Given the description of an element on the screen output the (x, y) to click on. 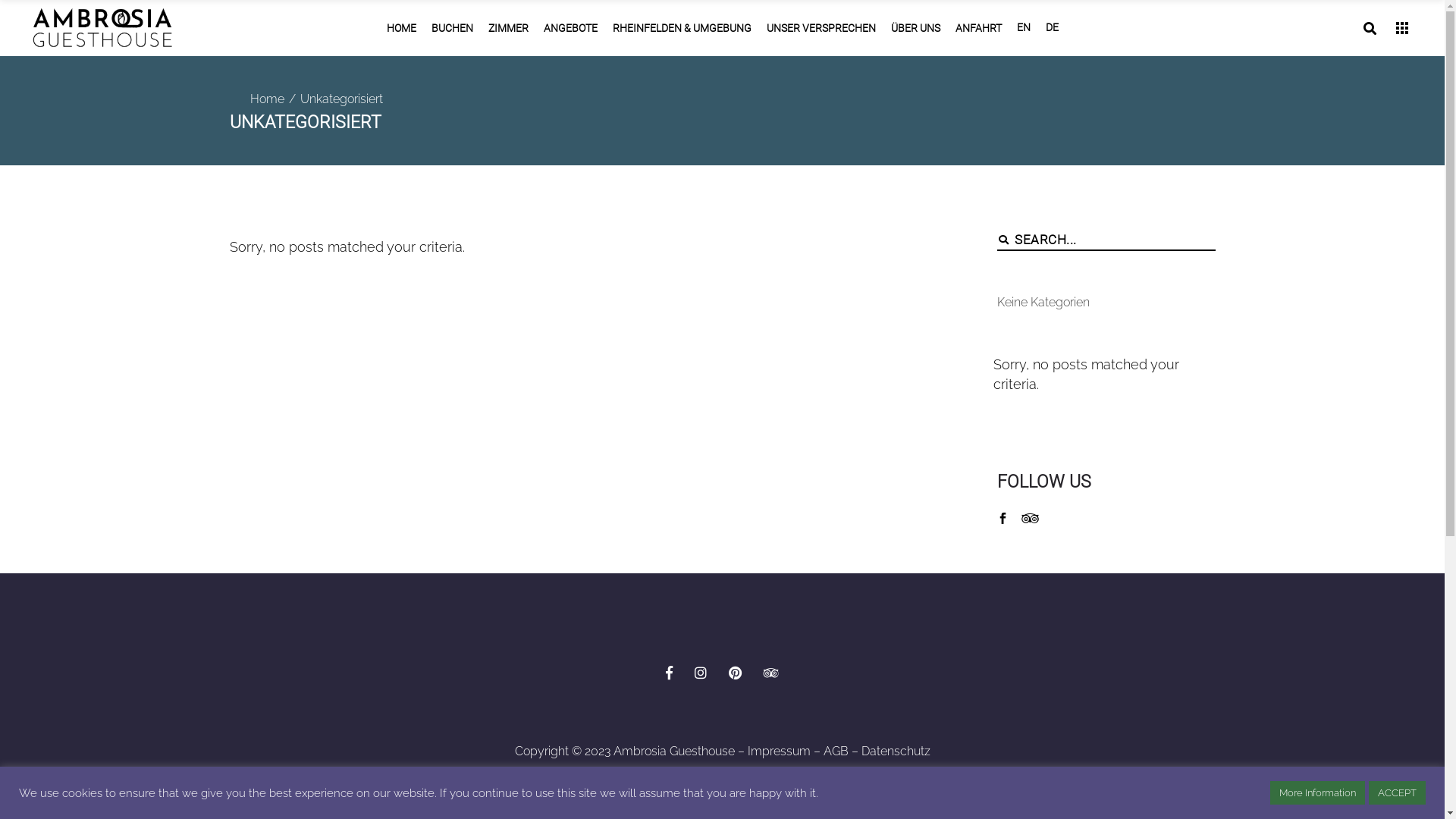
RHEINFELDEN & UMGEBUNG Element type: text (682, 28)
AGB Element type: text (835, 750)
BUCHEN Element type: text (451, 28)
Search for: Element type: hover (1114, 239)
HOME Element type: text (401, 28)
EN Element type: text (1022, 28)
Home Element type: text (267, 99)
UNSER VERSPRECHEN Element type: text (820, 28)
ANFAHRT Element type: text (978, 28)
ANGEBOTE Element type: text (569, 28)
info@ambrosiaguesthouse.ch Element type: text (639, 405)
ACCEPT Element type: text (1396, 792)
Quellenstrasse 19, 4310 Rheinfelden, Switzerland Element type: text (954, 405)
Datenschutz Element type: text (895, 750)
+41 (0)61 599 04 12 Element type: text (406, 405)
ZIMMER Element type: text (508, 28)
DE Element type: text (1051, 28)
More Information Element type: text (1317, 792)
Impressum Element type: text (778, 750)
